Given the description of an element on the screen output the (x, y) to click on. 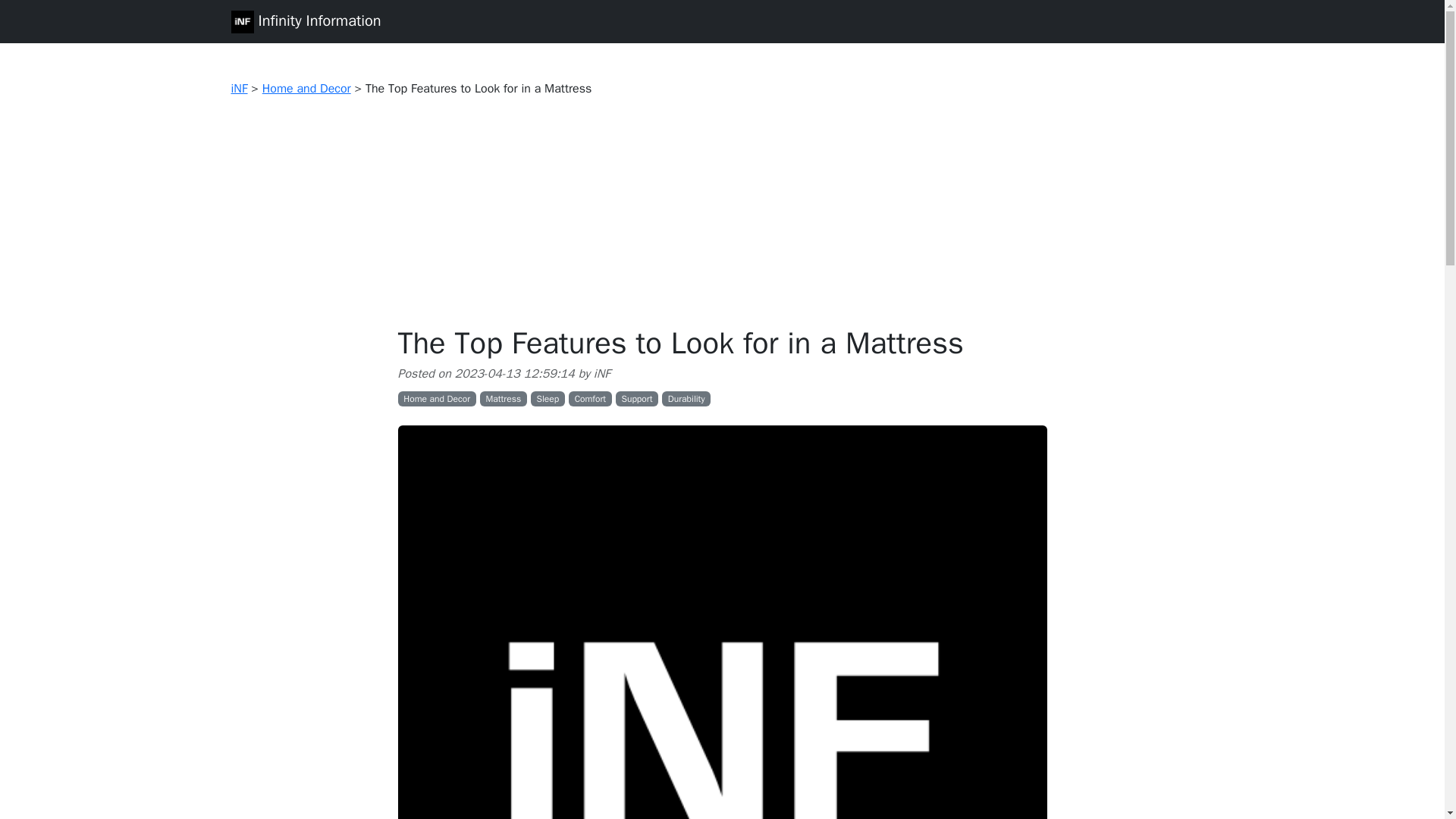
Home and Decor (436, 398)
Support (637, 398)
iNF (238, 88)
Home and Decor (306, 88)
Mattress (503, 398)
Comfort (590, 398)
Infinity Information (305, 20)
Durability (686, 398)
Sleep (547, 398)
